Given the description of an element on the screen output the (x, y) to click on. 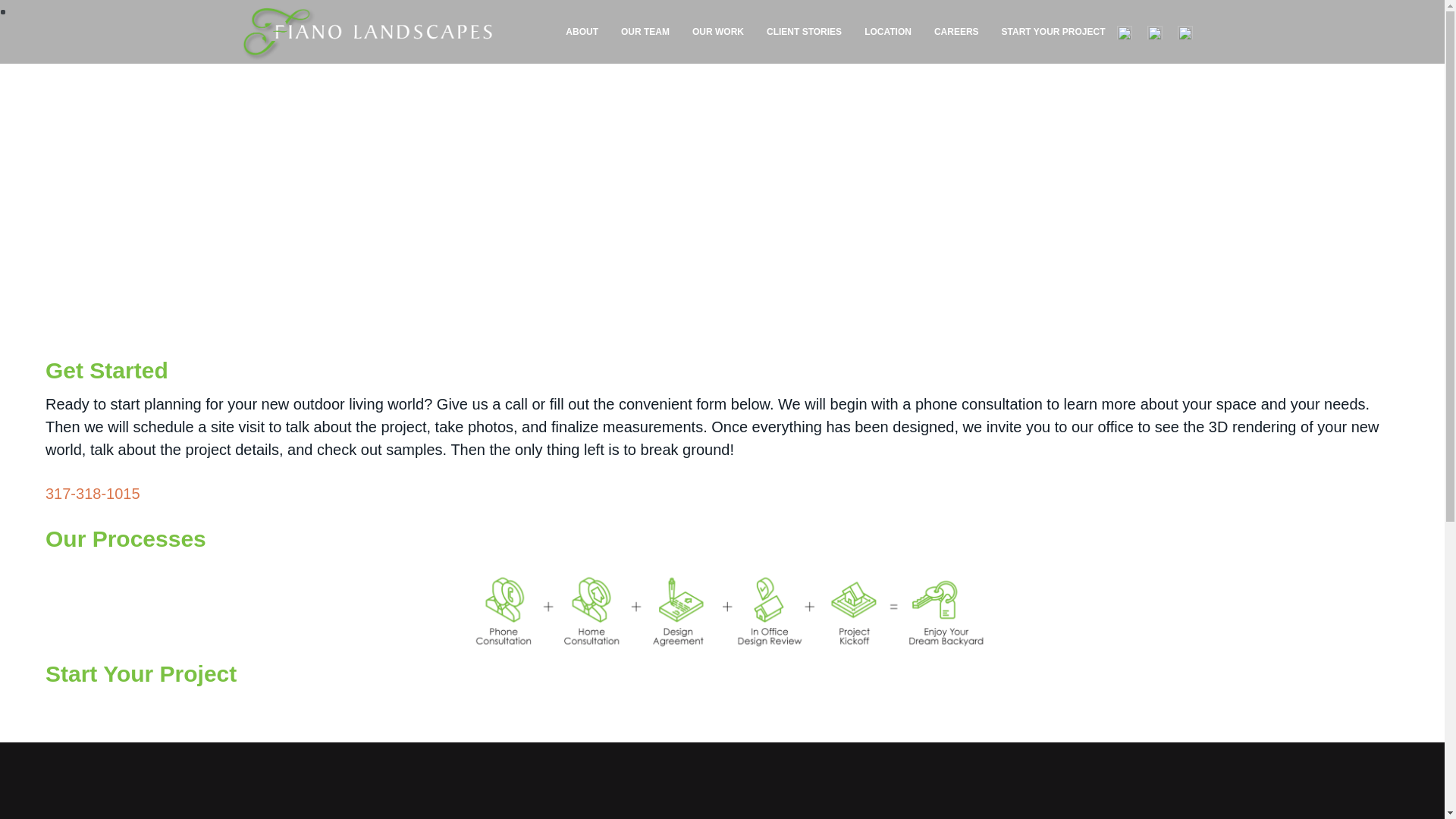
317-318-1015 (92, 493)
OUR WORK (718, 31)
OUR TEAM (645, 31)
CLIENT STORIES (804, 31)
CAREERS (956, 31)
FIANO LANDSCAPES (302, 66)
START YOUR PROJECT (1053, 31)
LOCATION (888, 31)
